Given the description of an element on the screen output the (x, y) to click on. 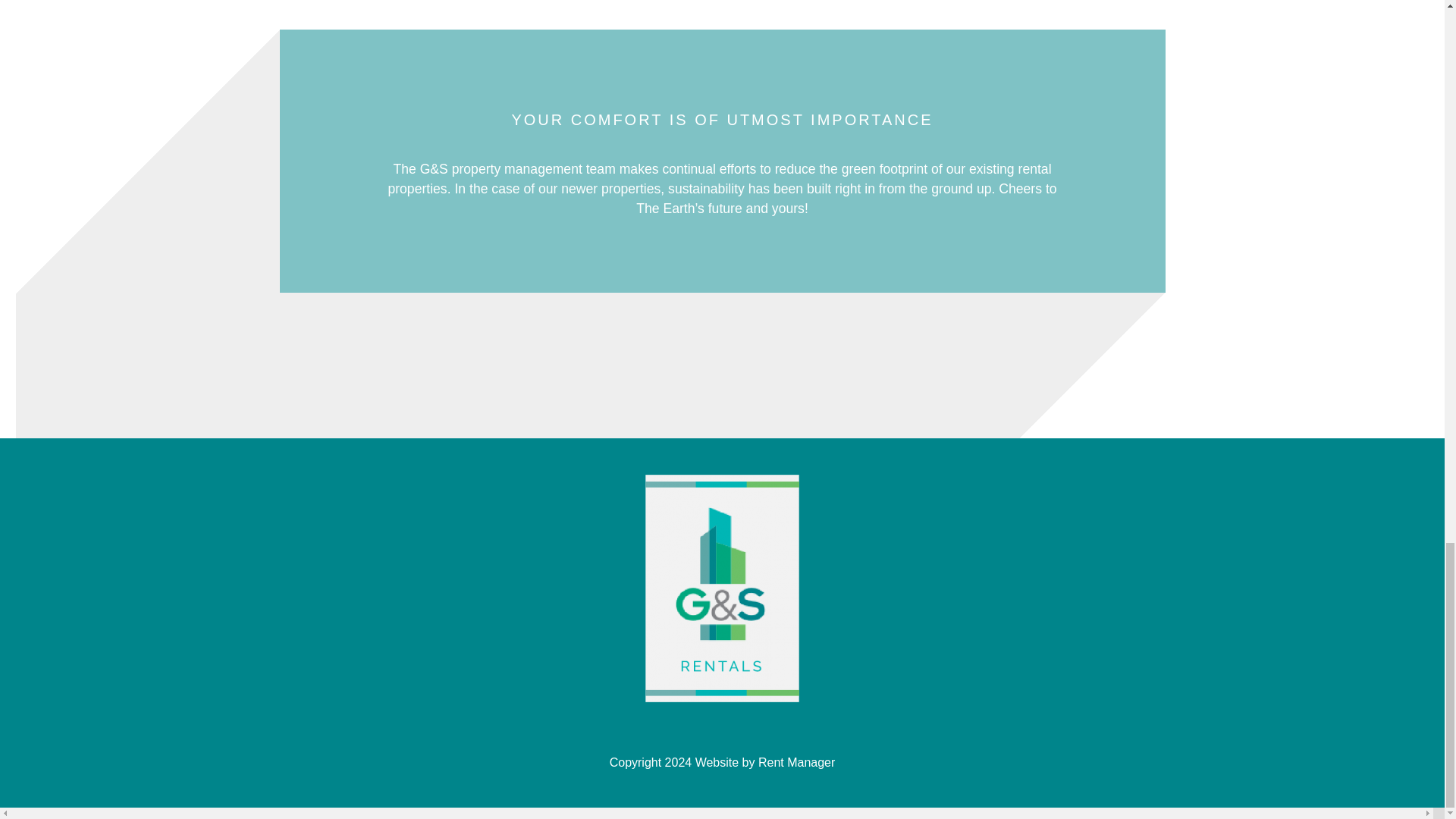
Website by Rent Manager (765, 762)
